Given the description of an element on the screen output the (x, y) to click on. 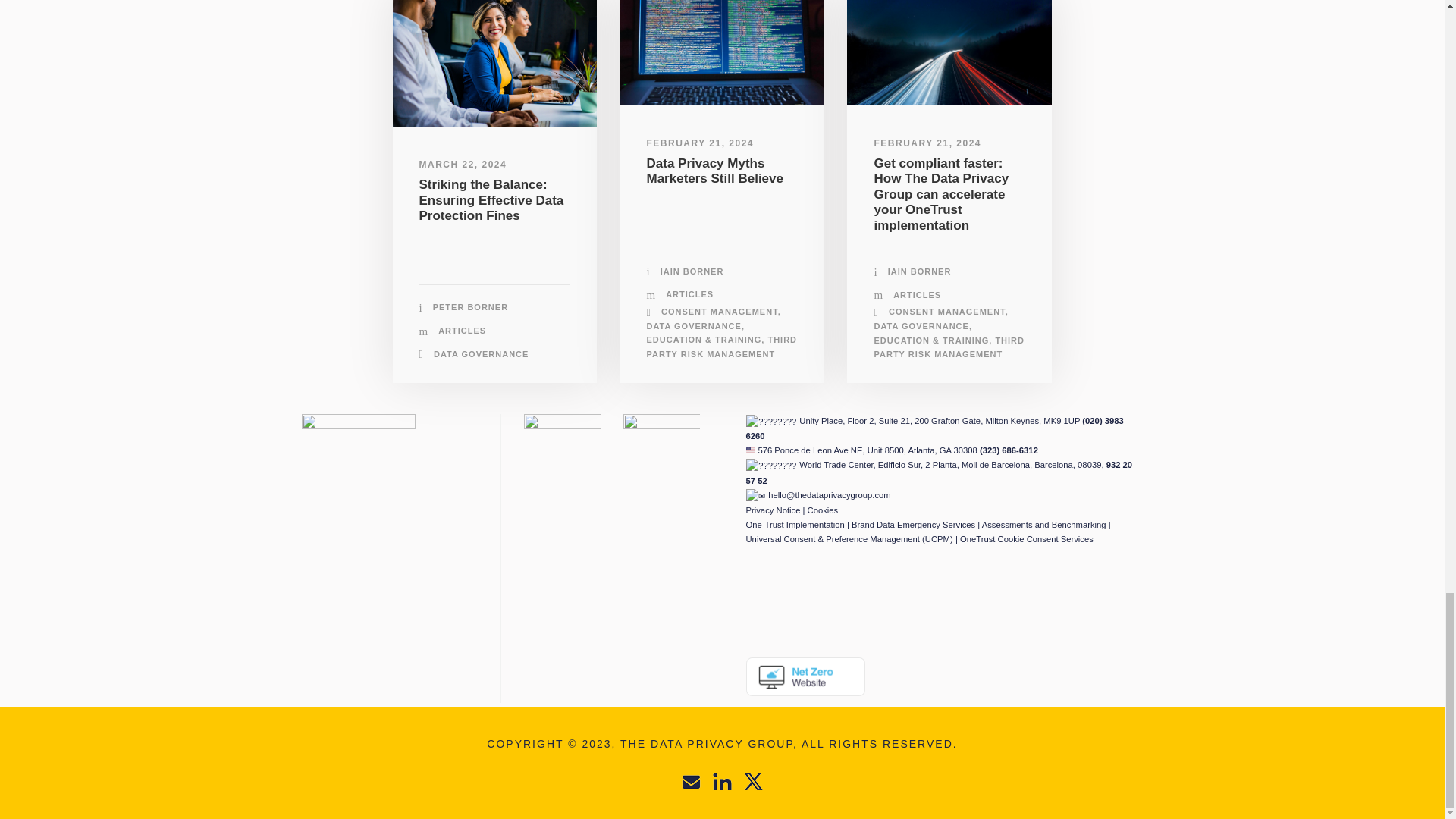
data privacy myths (722, 52)
data-governance (494, 63)
Posts by Peter Borner (470, 307)
